Given the description of an element on the screen output the (x, y) to click on. 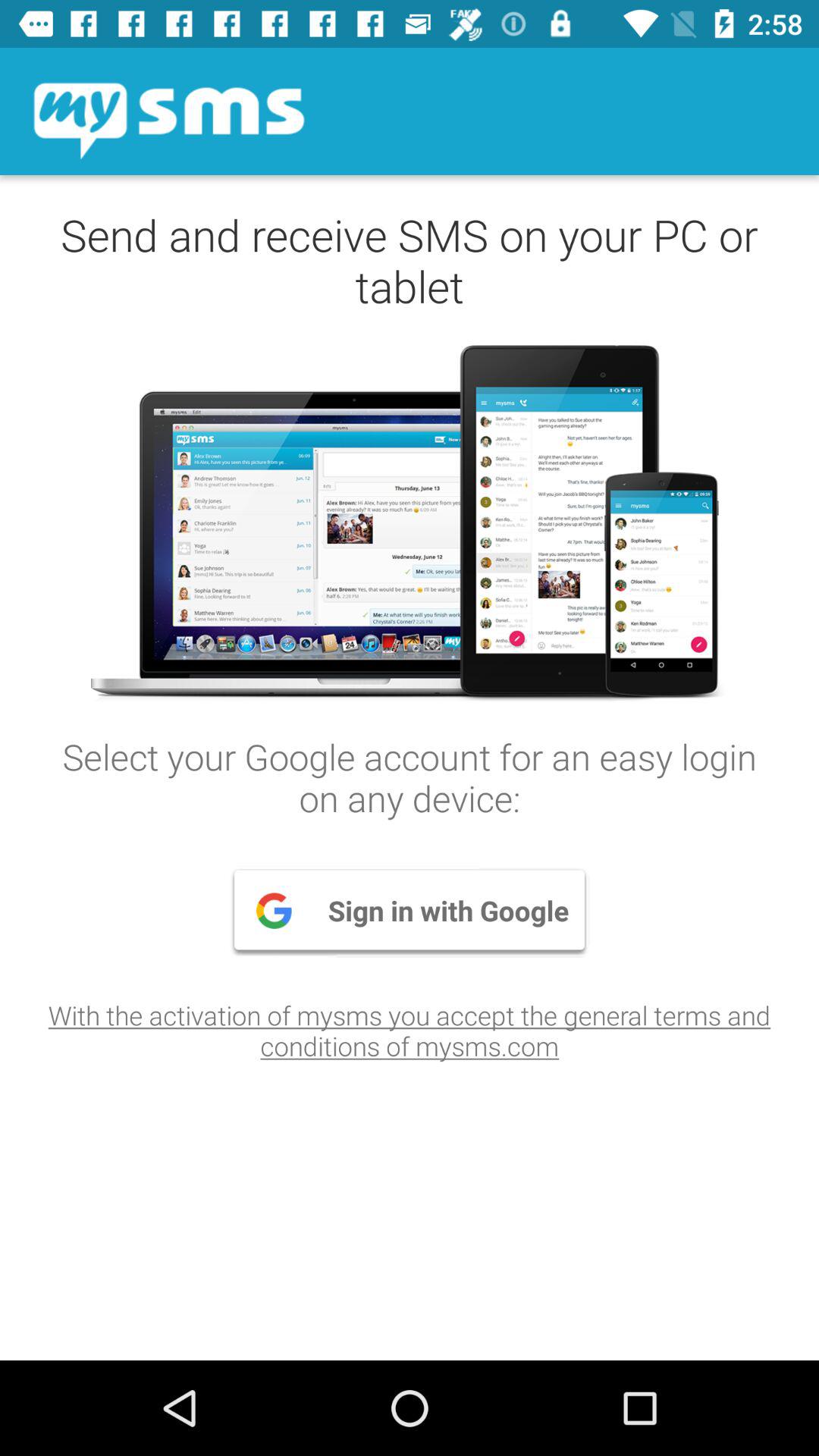
press with the activation (409, 1030)
